Given the description of an element on the screen output the (x, y) to click on. 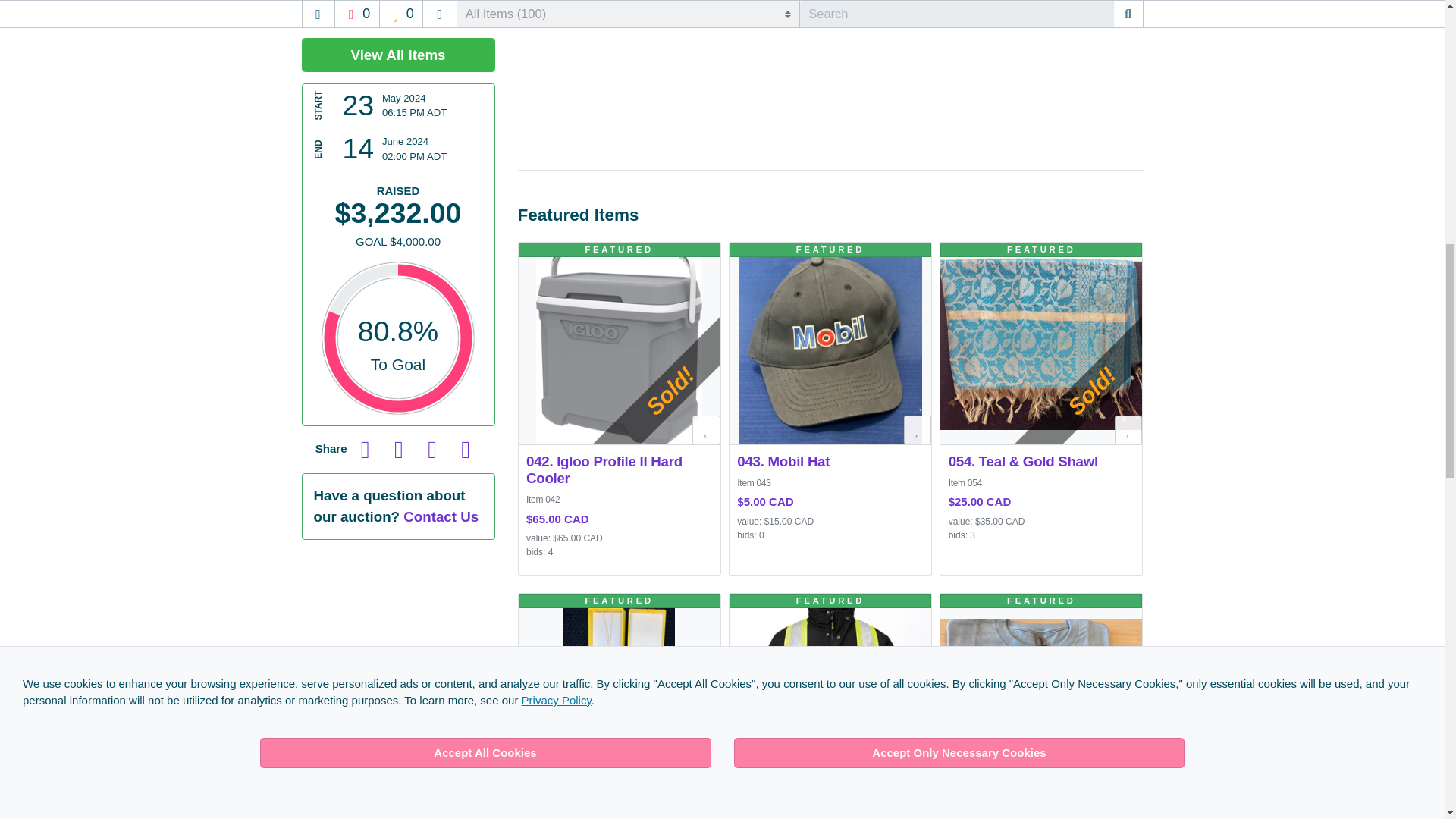
My Watchlist (1128, 430)
Share on Twitter (398, 88)
Contact Us (441, 157)
Share by Email (431, 88)
My Watchlist (917, 430)
YouTube video player (829, 67)
Share on Facebook (365, 88)
Share QR Code (464, 88)
My Watchlist (706, 430)
My Watchlist (706, 780)
